Given the description of an element on the screen output the (x, y) to click on. 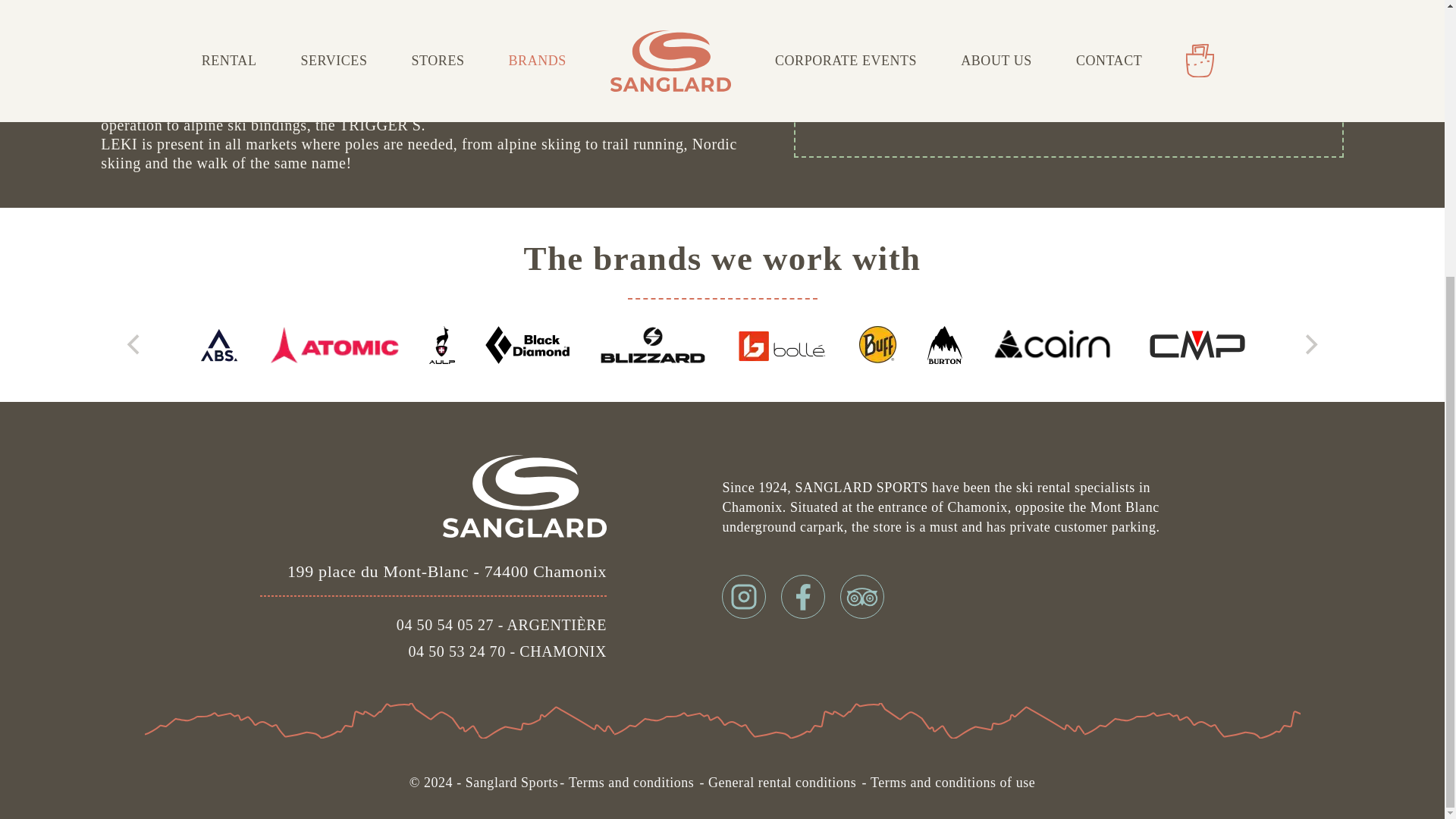
Buff.png (877, 344)
04 50 53 24 70 - CHAMONIX (375, 651)
Burton 2.png (944, 344)
CMP.png (1198, 344)
Black diamond.png (526, 344)
Terms and conditions (636, 782)
bolle-vector-logo.png (782, 344)
Blizzard.png (652, 344)
Cairn.png (1054, 344)
ABS.png (219, 344)
